Given the description of an element on the screen output the (x, y) to click on. 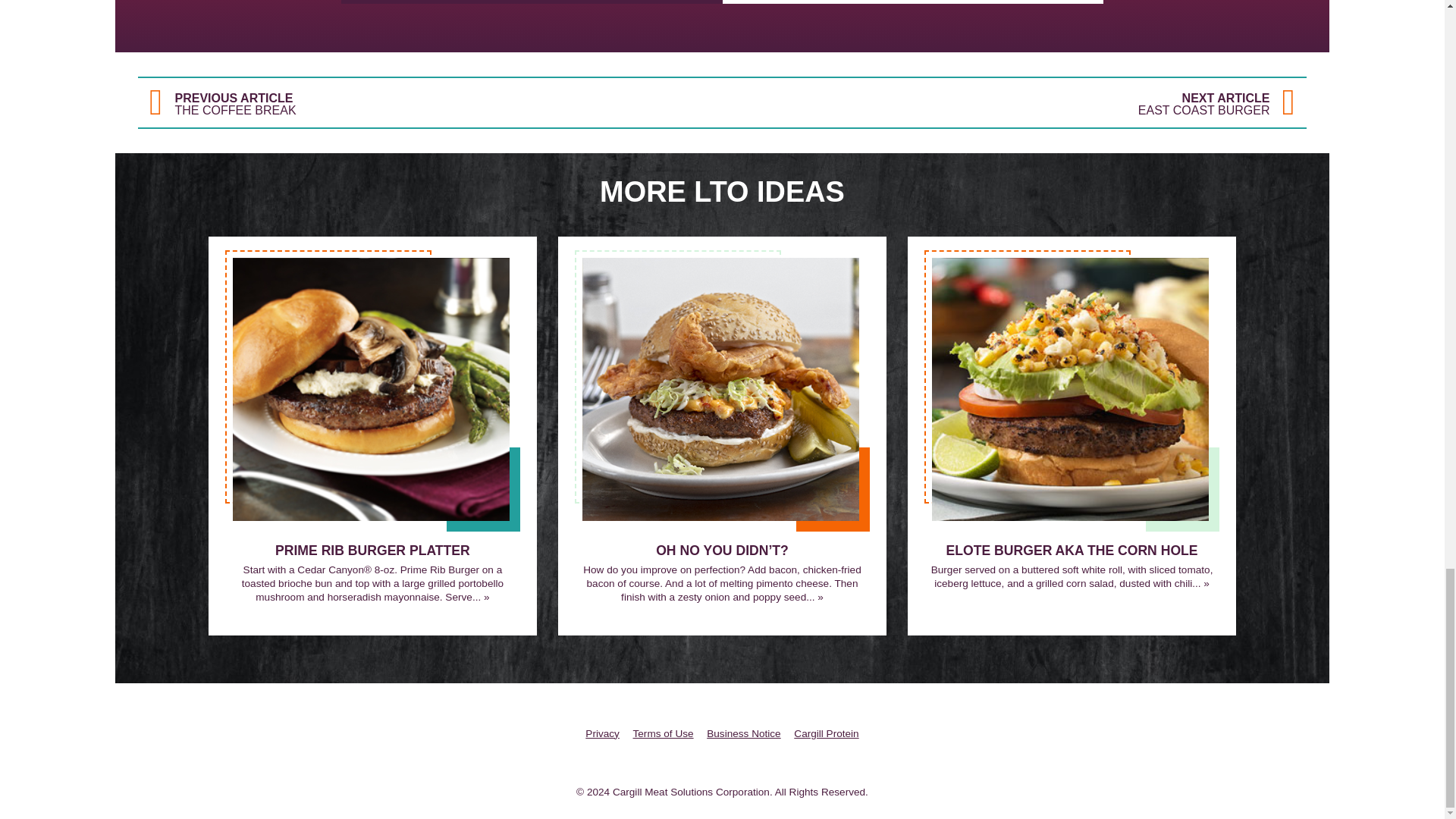
Cargill Protein (430, 102)
Privacy (826, 733)
Business Notice (602, 733)
Terms of Use (1014, 102)
